Given the description of an element on the screen output the (x, y) to click on. 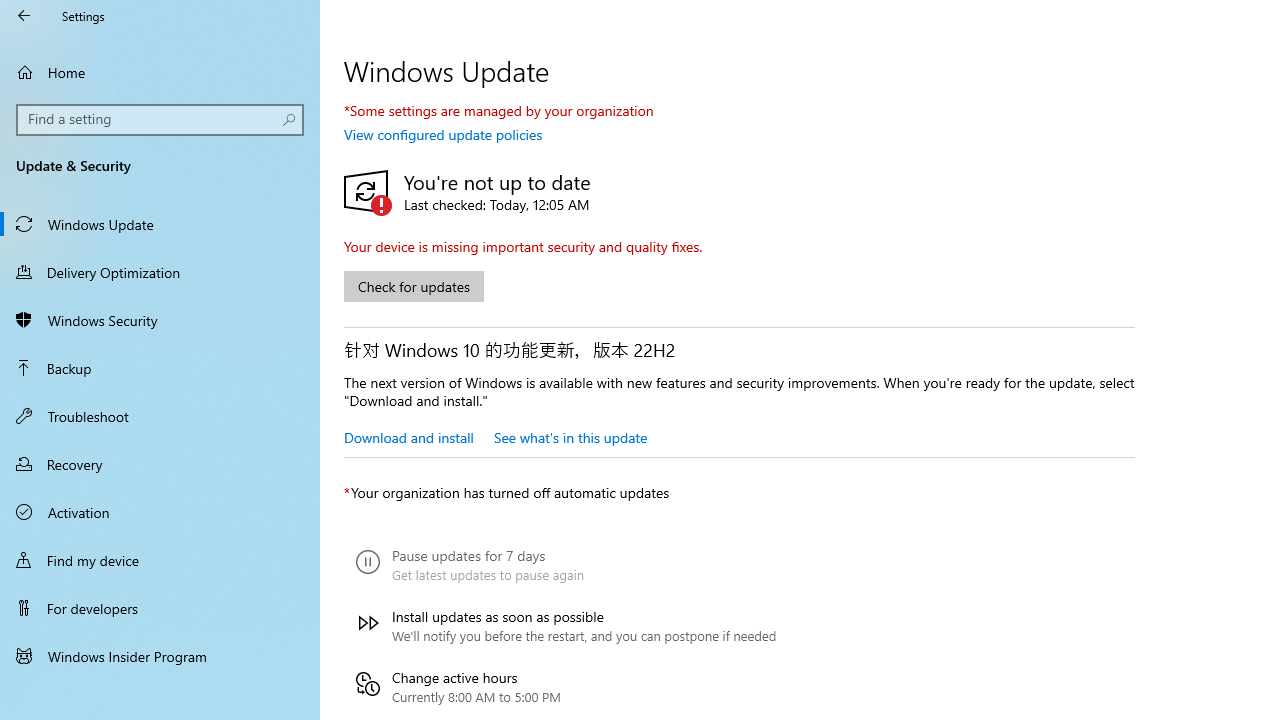
Windows Insider Program (160, 655)
See what's in this update (570, 437)
Back (24, 15)
Windows Security (160, 319)
For developers (160, 607)
